Given the description of an element on the screen output the (x, y) to click on. 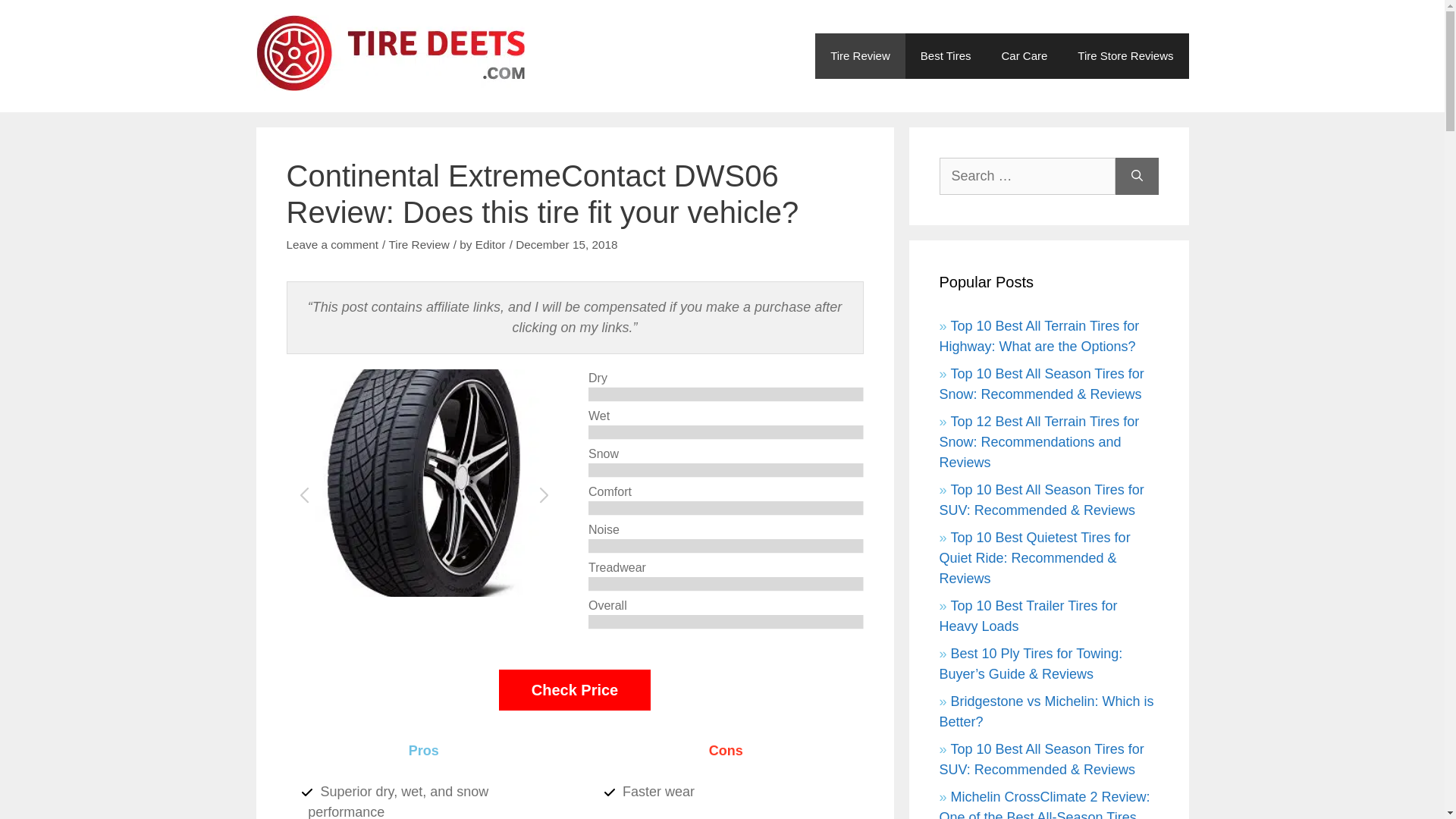
View all posts by Editor (490, 244)
Editor (490, 244)
Tire Store Reviews (1125, 55)
Tire Review (860, 55)
Check Price (574, 689)
Tire Review (418, 244)
Car Care (1023, 55)
Search for: (1027, 176)
Leave a comment (332, 244)
Best Tires (946, 55)
